Given the description of an element on the screen output the (x, y) to click on. 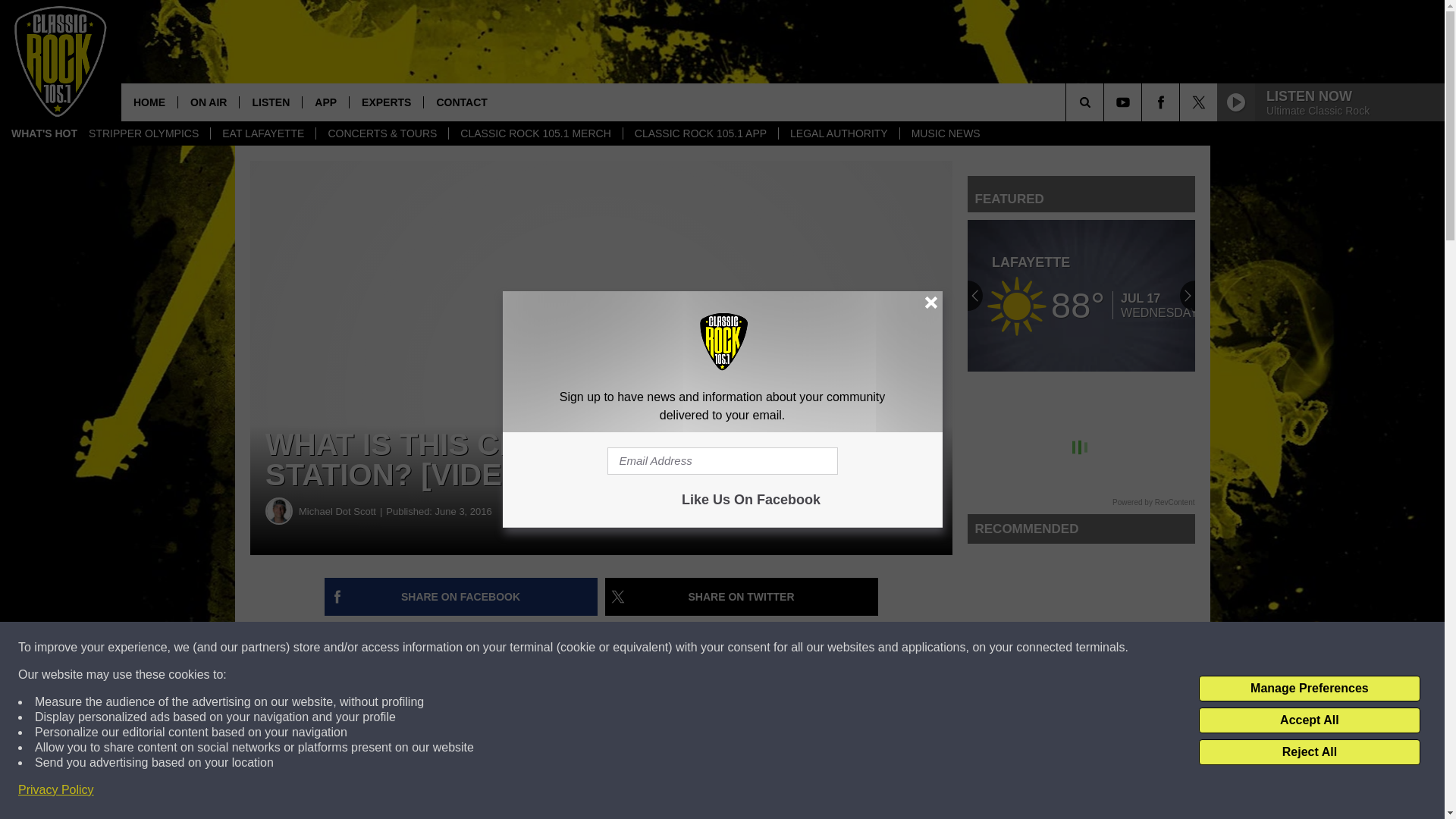
HOME (148, 102)
STRIPPER OLYMPICS (143, 133)
Manage Preferences (1309, 688)
Reject All (1309, 751)
APP (325, 102)
EAT LAFAYETTE (262, 133)
Share on Facebook (460, 596)
LEGAL AUTHORITY (838, 133)
LISTEN (269, 102)
SEARCH (1106, 102)
Accept All (1309, 720)
EXPERTS (386, 102)
CLASSIC ROCK 105.1 APP (700, 133)
Share on Twitter (741, 596)
MUSIC NEWS (945, 133)
